Given the description of an element on the screen output the (x, y) to click on. 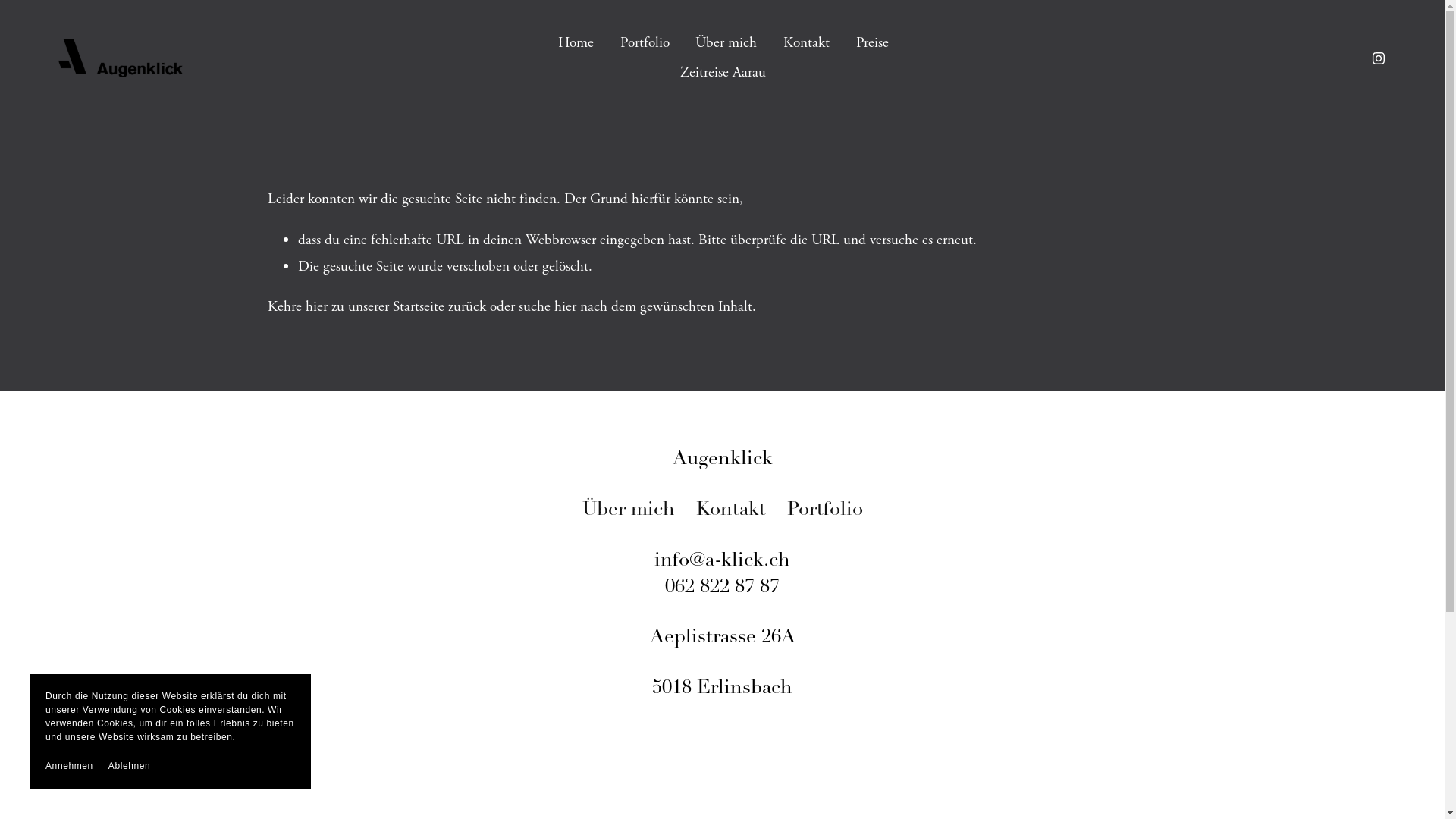
hier Element type: text (564, 306)
Portfolio Element type: text (824, 510)
Zeitreise Aarau Element type: text (722, 72)
Kontakt Element type: text (730, 510)
Kontakt Element type: text (806, 42)
Ablehnen Element type: text (129, 766)
Portfolio Element type: text (644, 42)
Annehmen Element type: text (69, 766)
hier Element type: text (315, 306)
Preise Element type: text (872, 42)
Home Element type: text (575, 42)
